Given the description of an element on the screen output the (x, y) to click on. 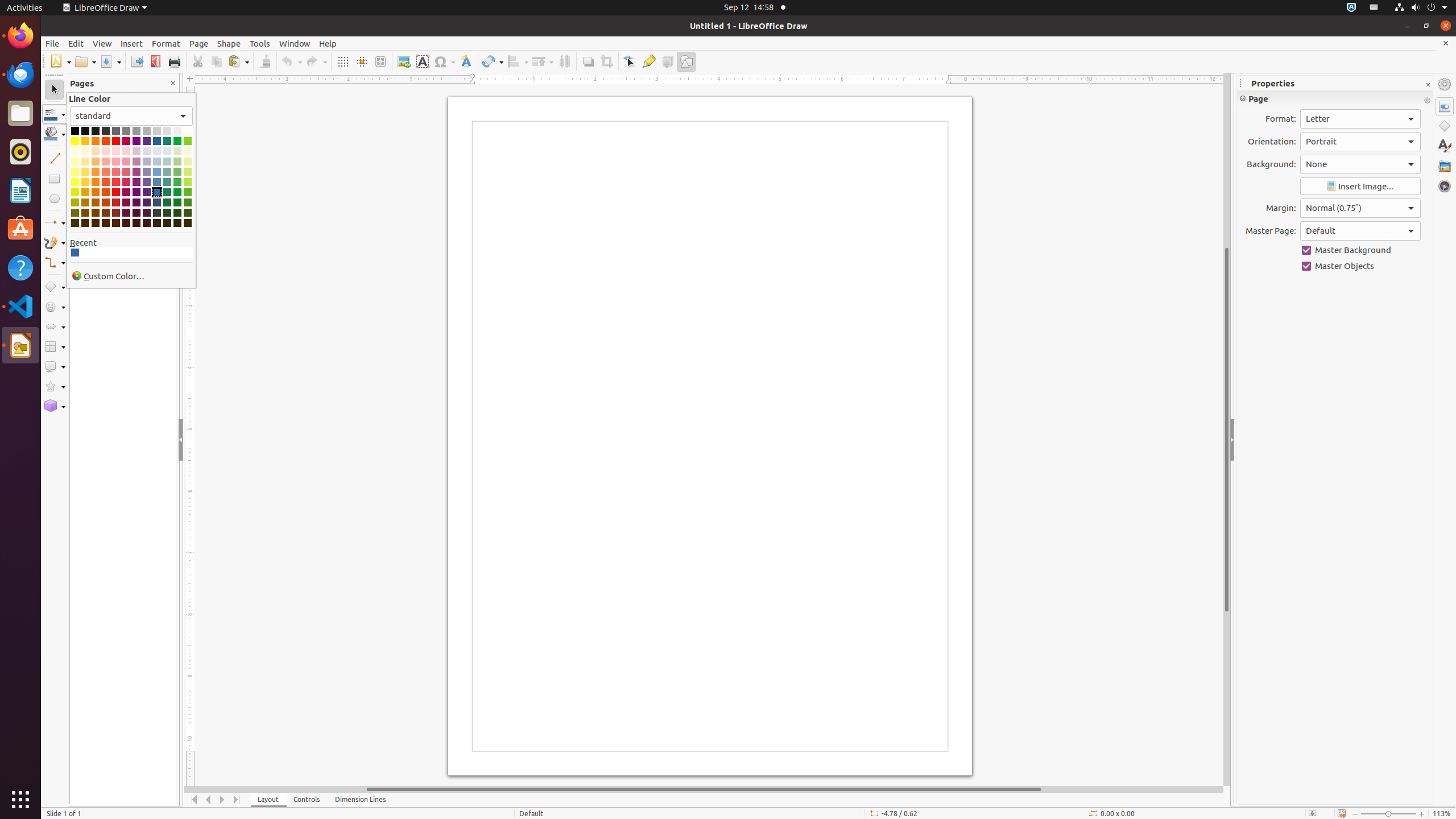
Text Box Element type: push-button (421, 61)
Fontwork Style Element type: toggle-button (465, 61)
Gallery Element type: radio-button (1444, 165)
Light Magenta 4 Element type: list-item (126, 151)
Dimension Lines Element type: page-tab (360, 799)
